Given the description of an element on the screen output the (x, y) to click on. 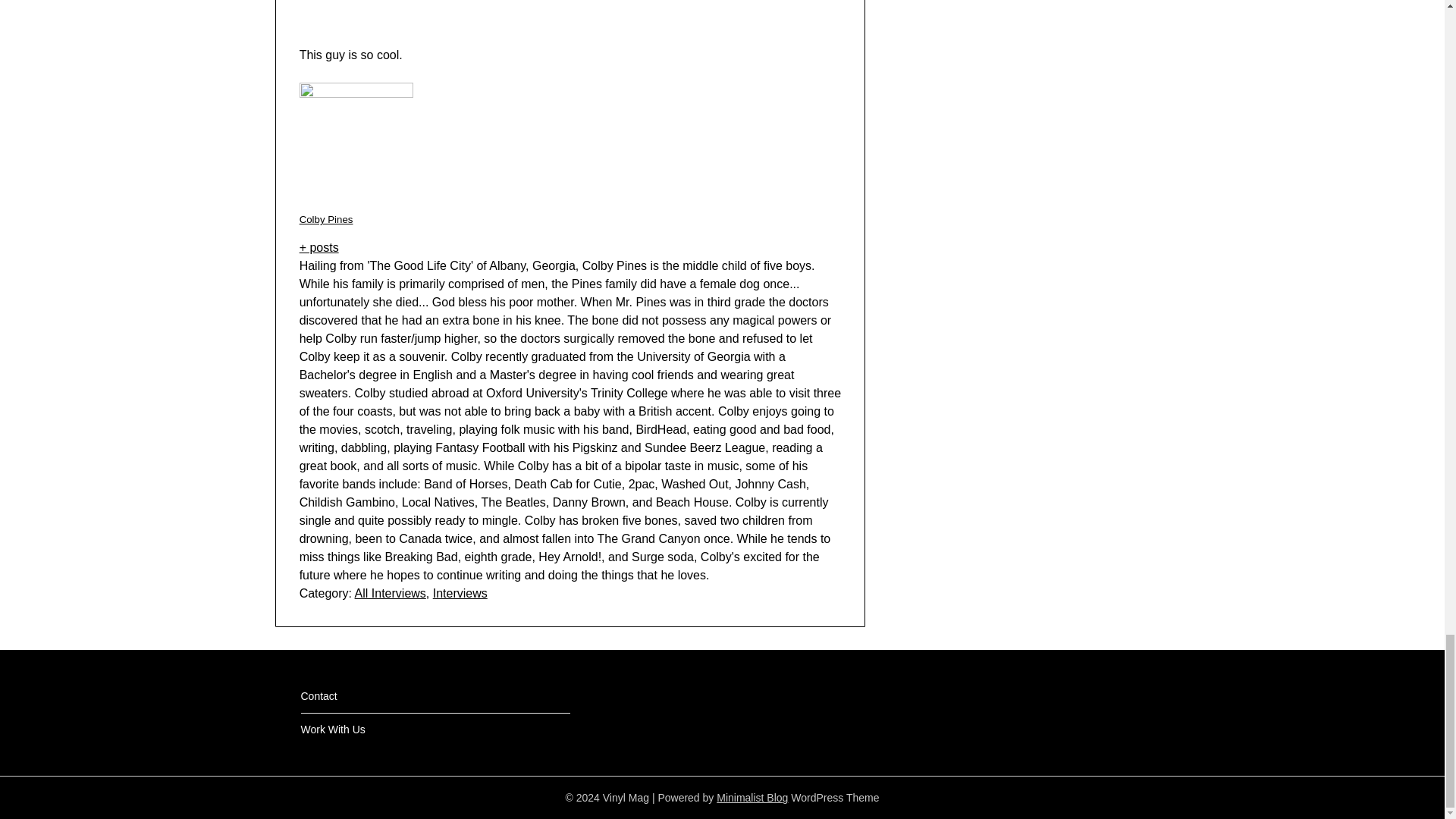
Contact (317, 695)
Interviews (459, 593)
Colby Pines (326, 219)
Minimalist Blog (751, 797)
All Interviews (390, 593)
Work With Us (332, 729)
